Given the description of an element on the screen output the (x, y) to click on. 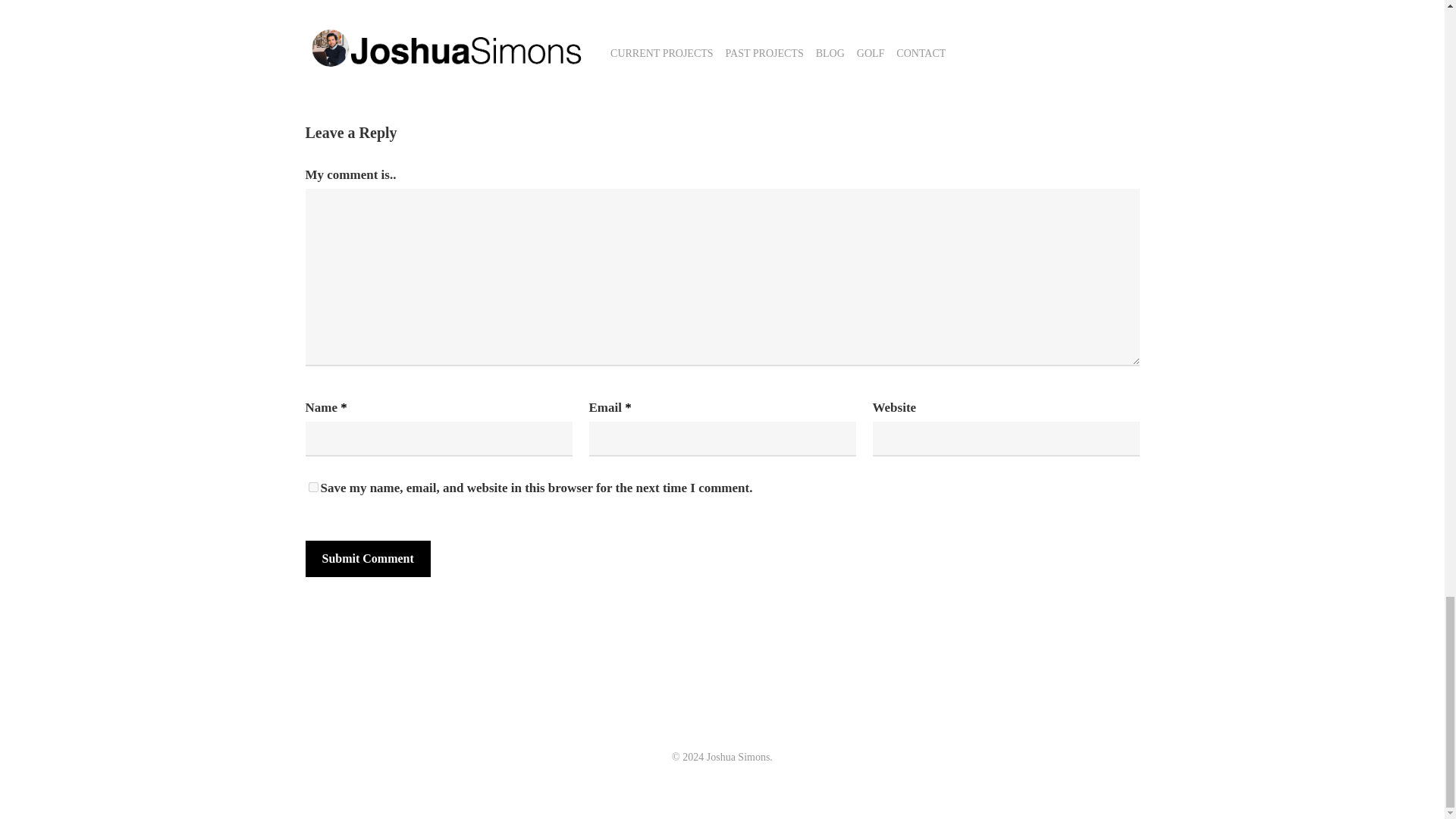
Submit Comment (366, 557)
Submit Comment (366, 557)
yes (312, 487)
